Given the description of an element on the screen output the (x, y) to click on. 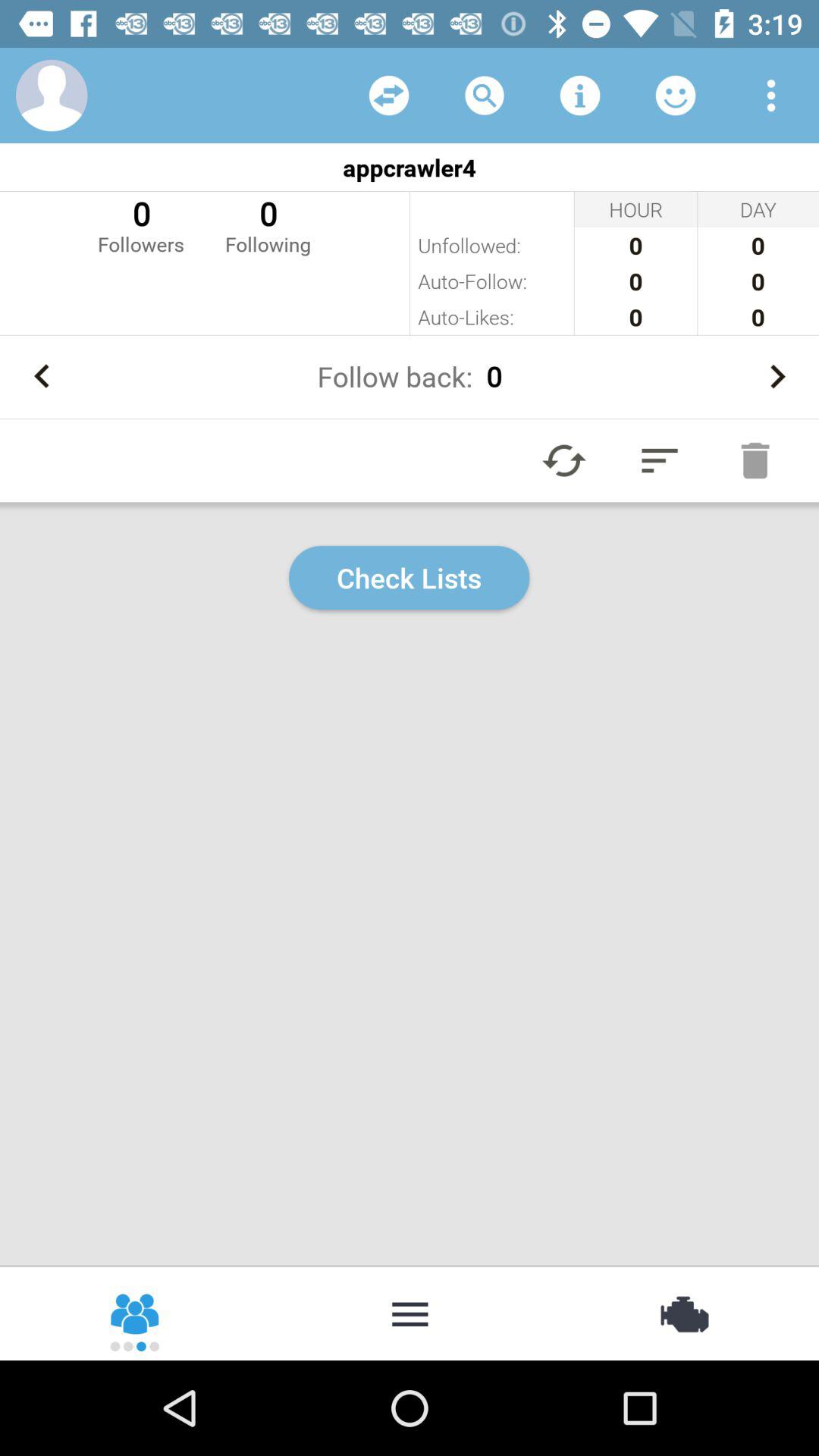
go to profile (51, 95)
